Given the description of an element on the screen output the (x, y) to click on. 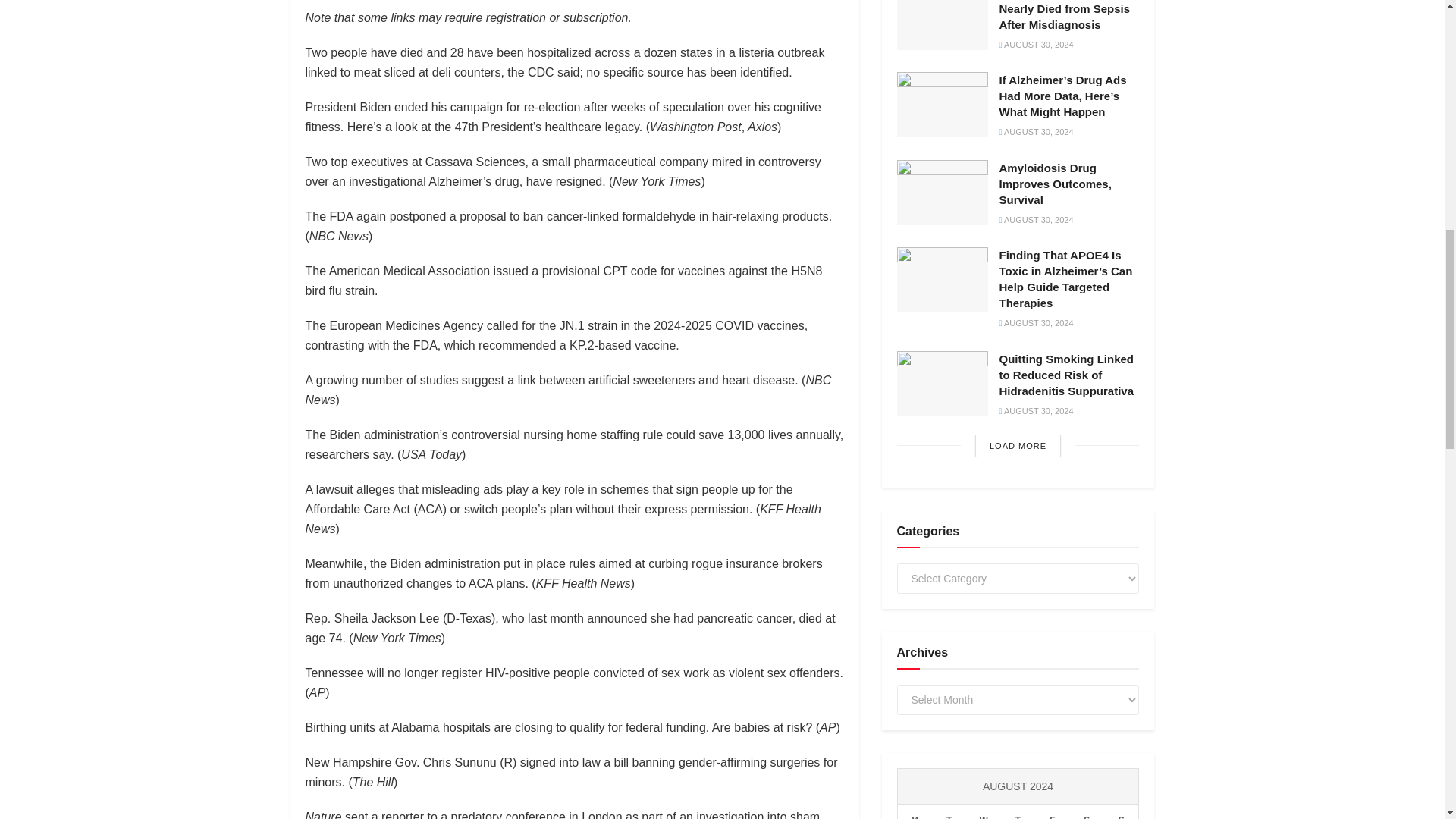
Tuesday (948, 811)
Thursday (1018, 811)
Saturday (1086, 811)
Monday (914, 811)
Wednesday (983, 811)
Friday (1051, 811)
Sunday (1120, 811)
